Given the description of an element on the screen output the (x, y) to click on. 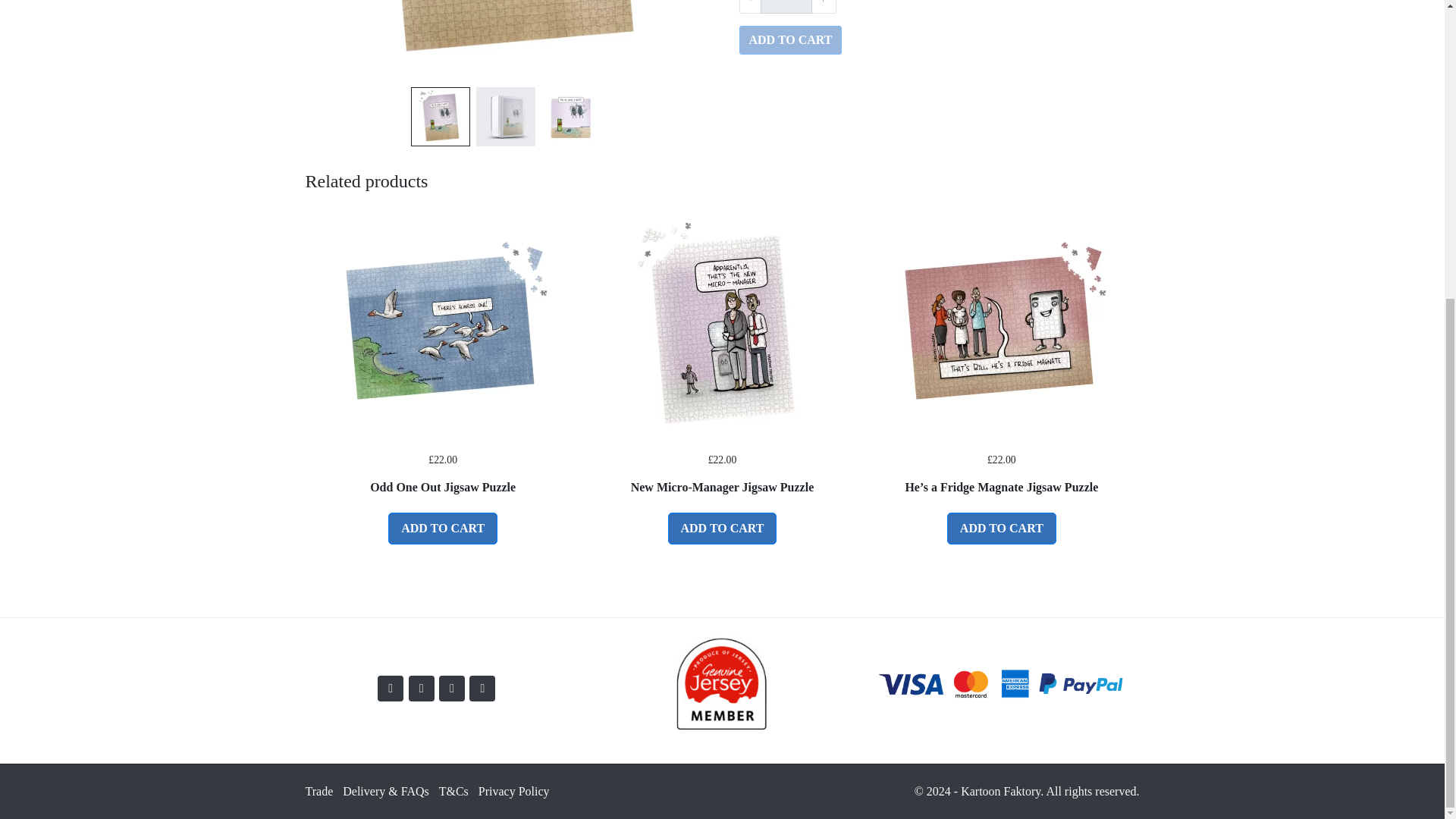
leave a note (504, 40)
